Given the description of an element on the screen output the (x, y) to click on. 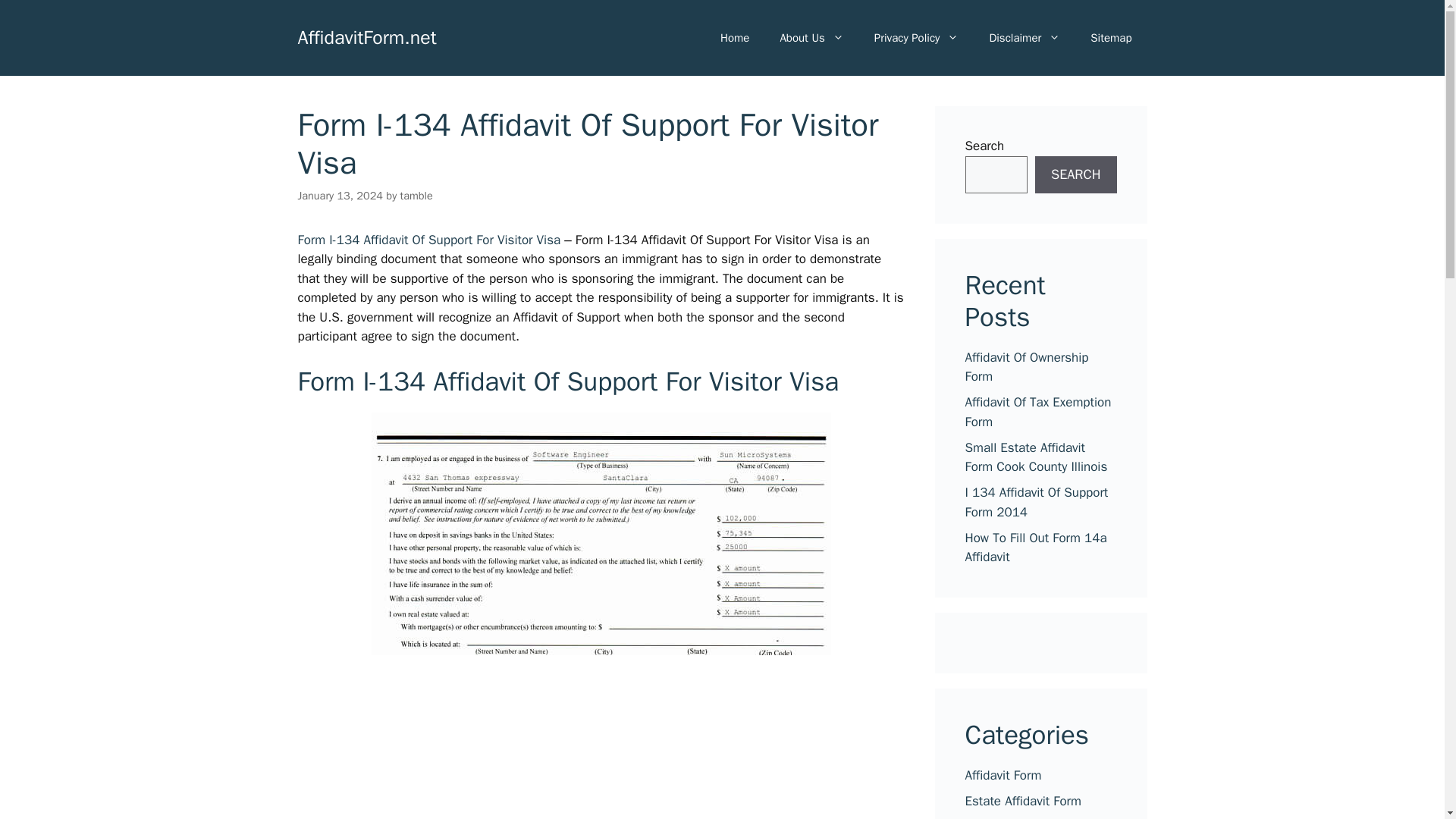
Privacy Policy (916, 37)
AffidavitForm.net (366, 37)
Sitemap (1111, 37)
Affidavit Of Ownership Form (1025, 366)
Affidavit Of Tax Exemption Form (1036, 411)
SEARCH (1075, 174)
Home (734, 37)
Disclaimer (1024, 37)
tamble (416, 195)
View all posts by tamble (416, 195)
